Given the description of an element on the screen output the (x, y) to click on. 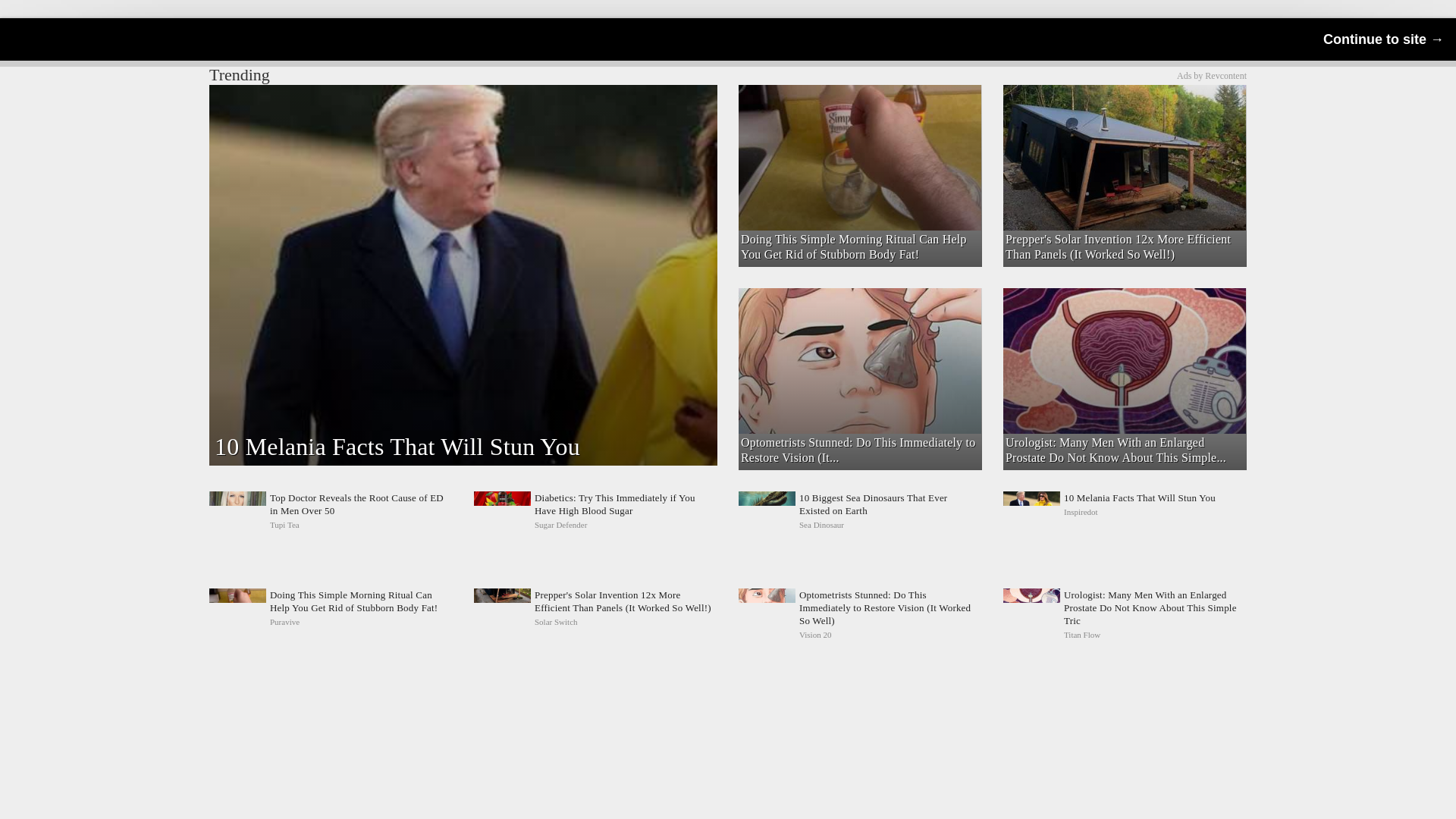
Ads by Revcontent (1211, 75)
Top Doctor Reveals the Root Cause of ED in Men Over 50 (330, 510)
10 Melania Facts That Will Stun You (1124, 510)
